Given the description of an element on the screen output the (x, y) to click on. 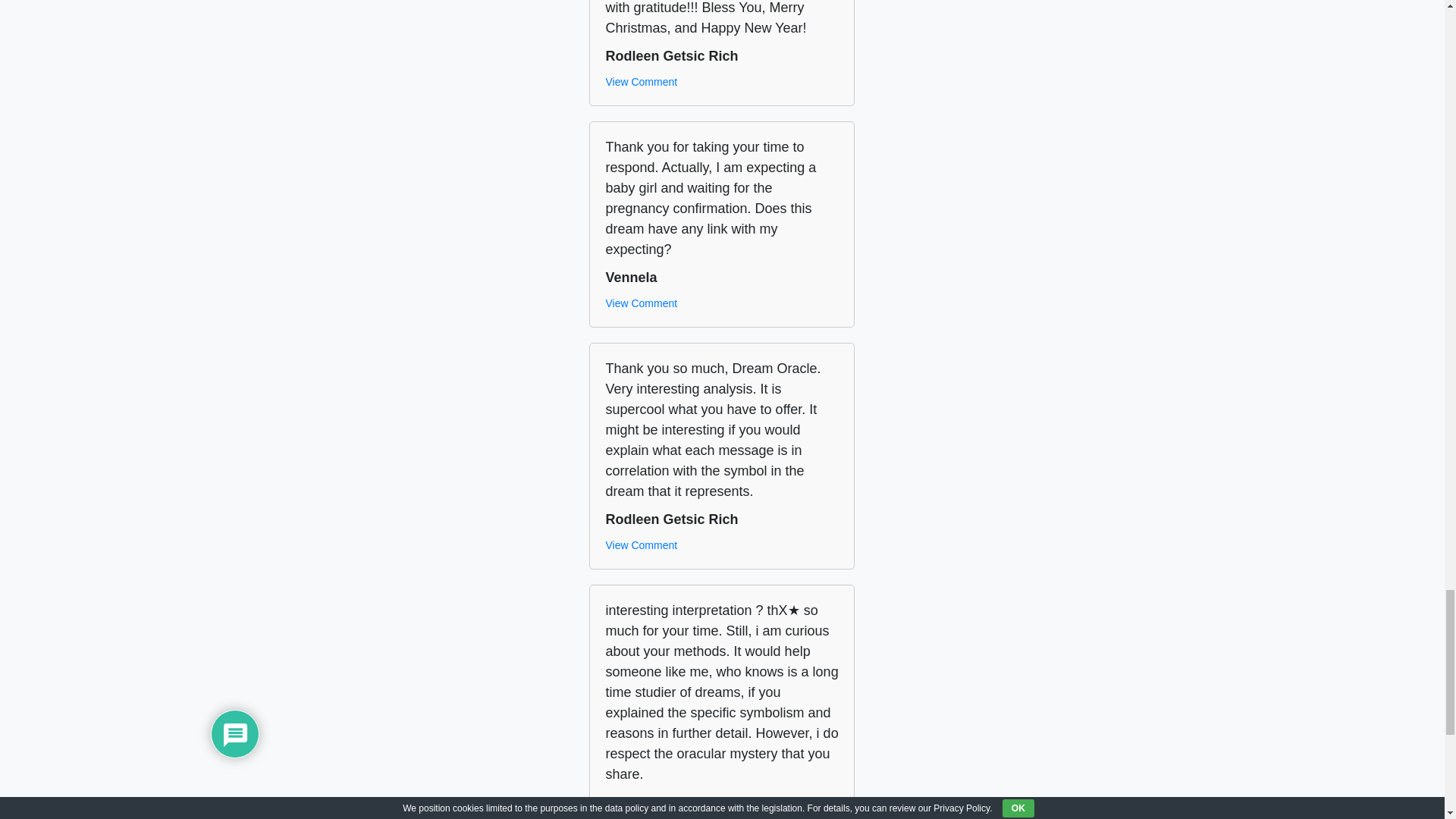
View Comment (641, 82)
View Comment (641, 303)
View Comment (641, 545)
